Given the description of an element on the screen output the (x, y) to click on. 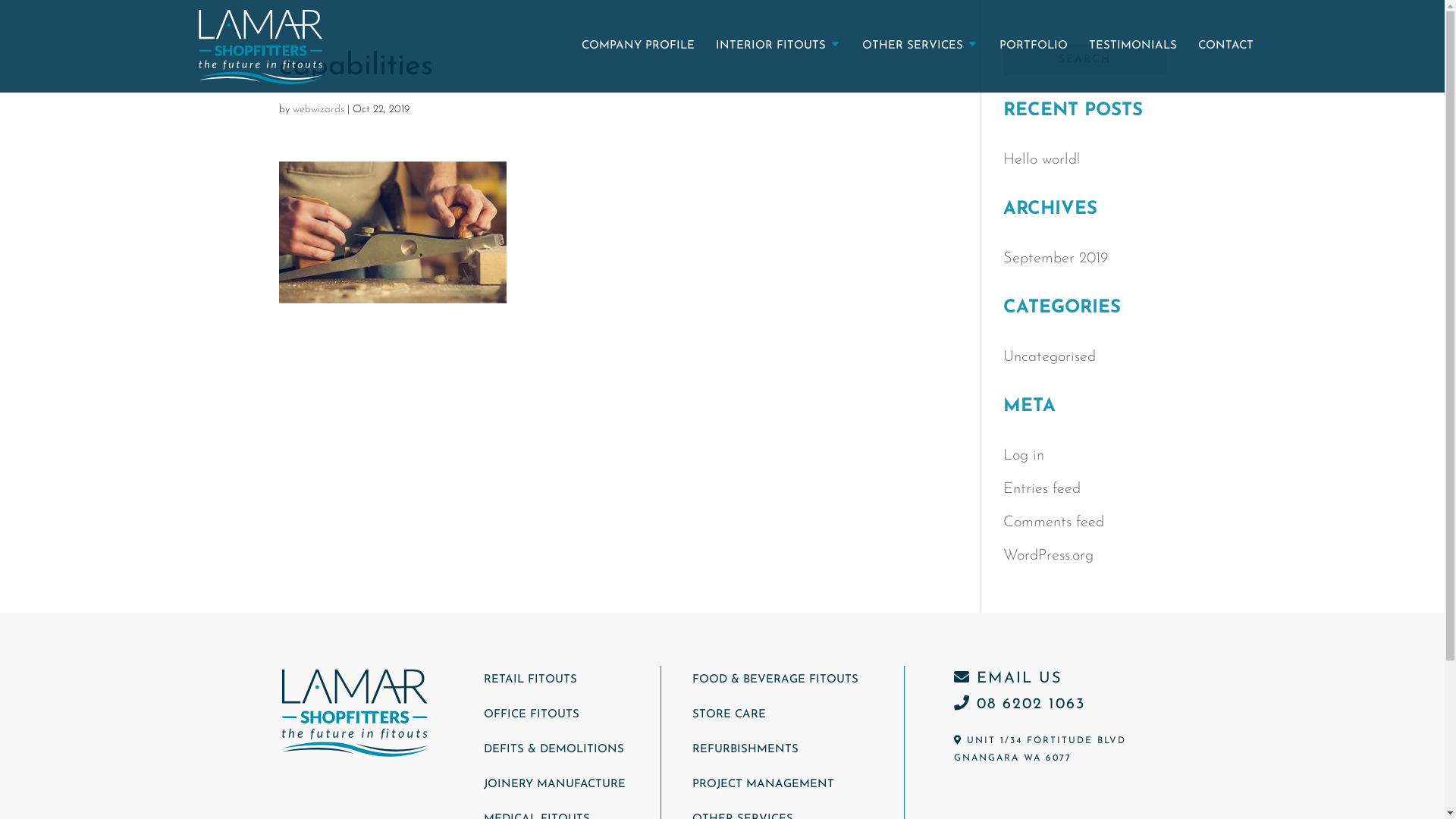
September 2019 Element type: text (1055, 258)
RETAIL FITOUTS Element type: text (530, 679)
Search Element type: text (1084, 58)
UNIT 1/34 FORTITUDE BLVD
GNANGARA WA 6077 Element type: text (1039, 749)
JOINERY MANUFACTURE Element type: text (554, 784)
Log in Element type: text (1023, 455)
TESTIMONIALS Element type: text (1132, 66)
STORE CARE Element type: text (728, 714)
OFFICE FITOUTS Element type: text (531, 714)
INTERIOR FITOUTS Element type: text (777, 66)
Hello world! Element type: text (1041, 159)
PROJECT MANAGEMENT Element type: text (763, 784)
Uncategorised Element type: text (1049, 356)
webwizards Element type: text (318, 109)
REFURBISHMENTS Element type: text (745, 749)
DEFITS & DEMOLITIONS Element type: text (553, 749)
EMAIL US Element type: text (1007, 678)
08 6202 1063 Element type: text (1019, 704)
PORTFOLIO Element type: text (1033, 66)
COMPANY PROFILE Element type: text (636, 66)
FOOD & BEVERAGE FITOUTS Element type: text (775, 679)
CONTACT Element type: text (1225, 66)
Entries feed Element type: text (1041, 488)
WordPress.org Element type: text (1048, 555)
OTHER SERVICES Element type: text (919, 66)
Comments feed Element type: text (1053, 522)
